Given the description of an element on the screen output the (x, y) to click on. 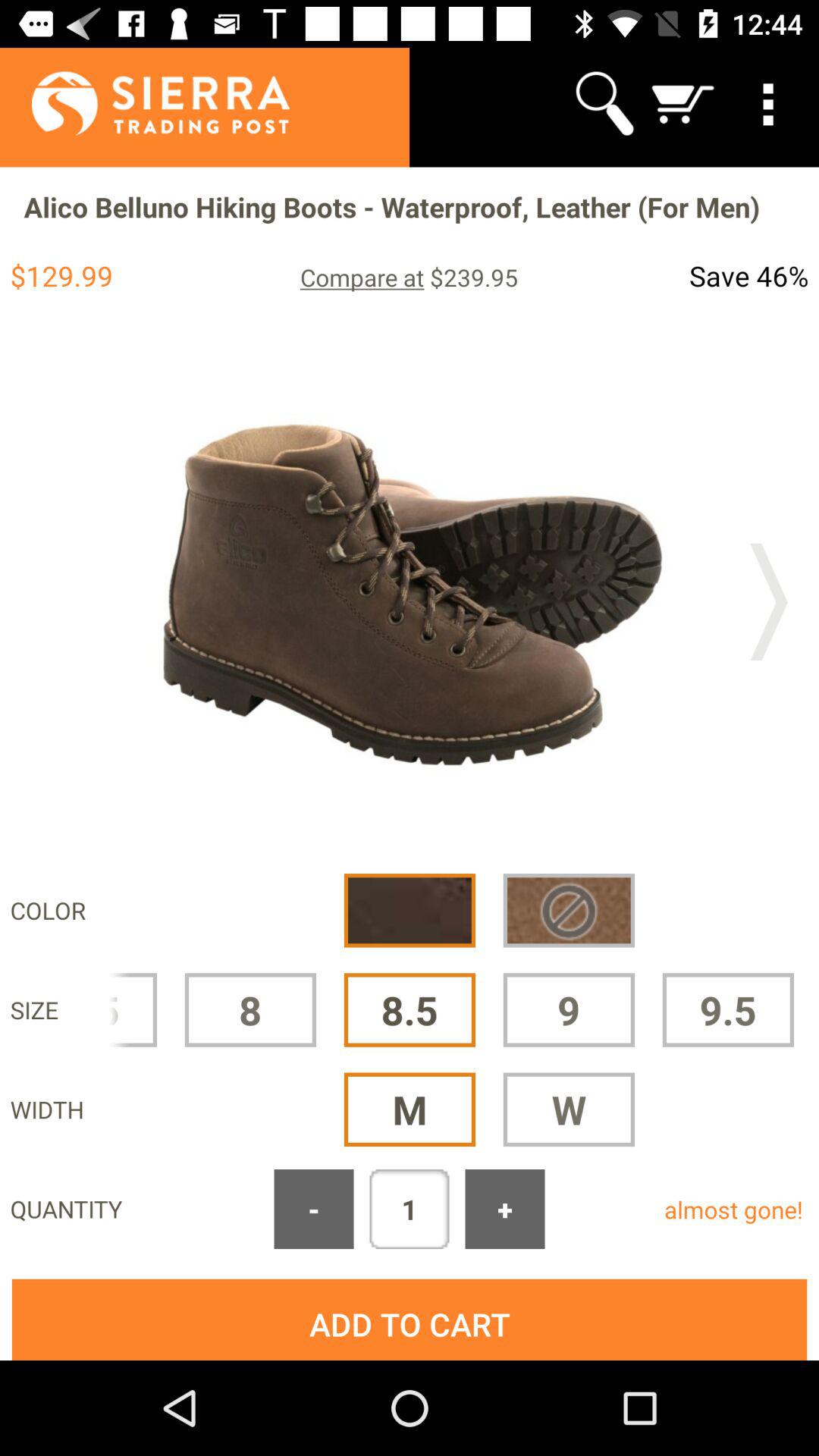
open the icon above the alico belluno hiking app (683, 103)
